Given the description of an element on the screen output the (x, y) to click on. 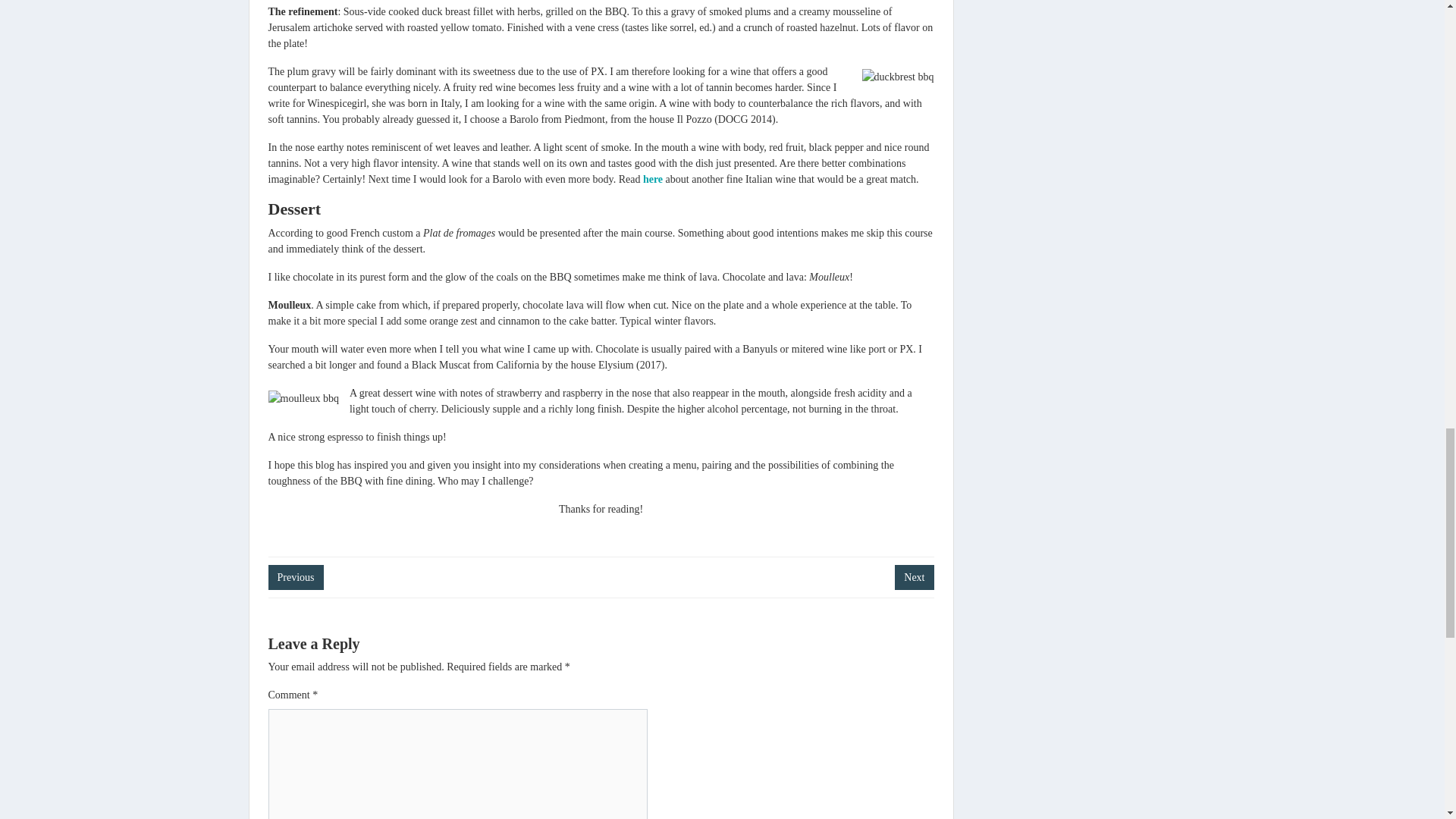
here (652, 179)
Previous (295, 577)
Next (914, 577)
